Given the description of an element on the screen output the (x, y) to click on. 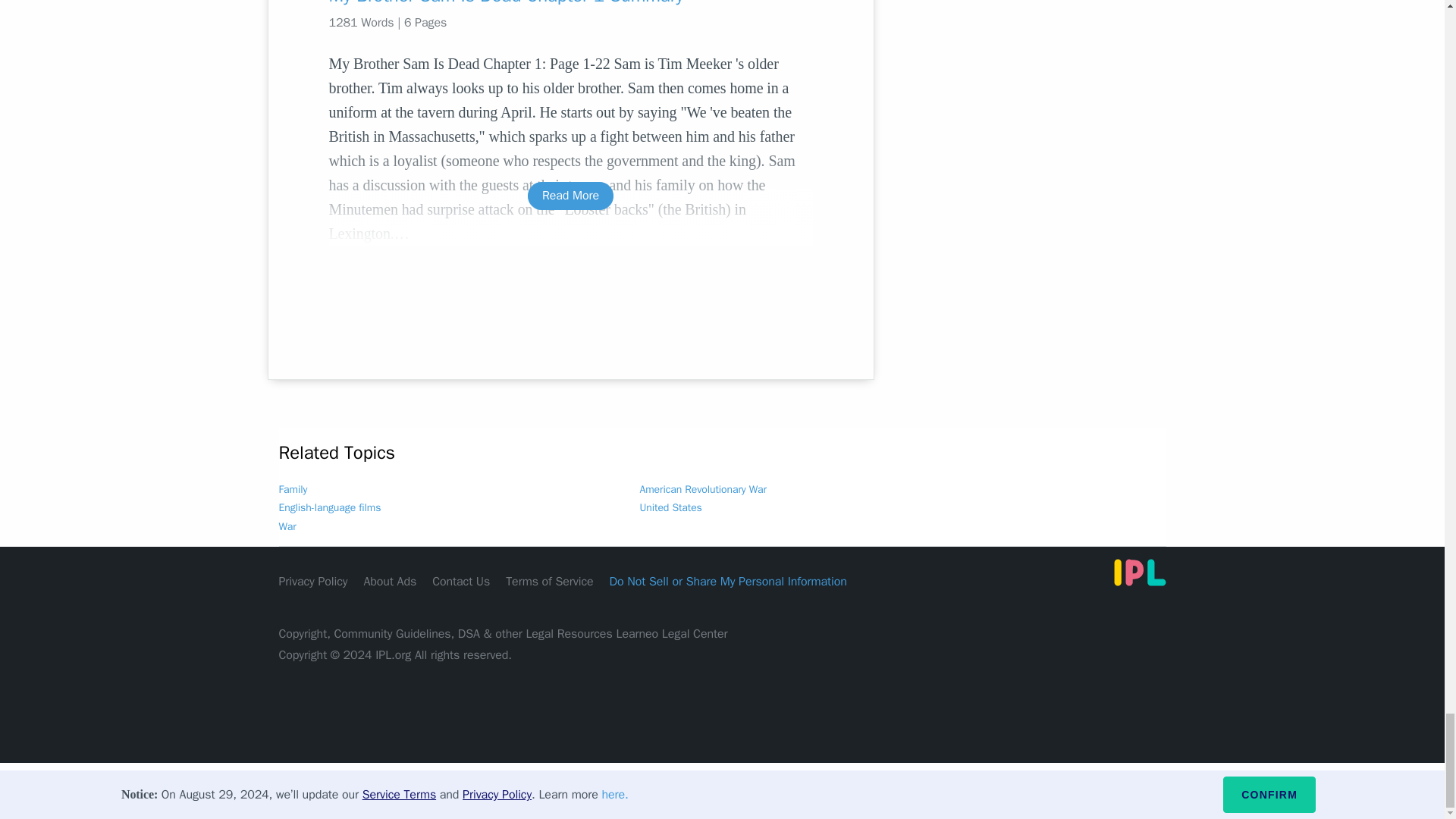
Privacy Policy (313, 581)
Contact Us (460, 581)
English-language films (330, 507)
Terms of Service (548, 581)
United States (670, 507)
American Revolutionary War (703, 489)
Family (293, 489)
About Ads (389, 581)
War (288, 526)
